Given the description of an element on the screen output the (x, y) to click on. 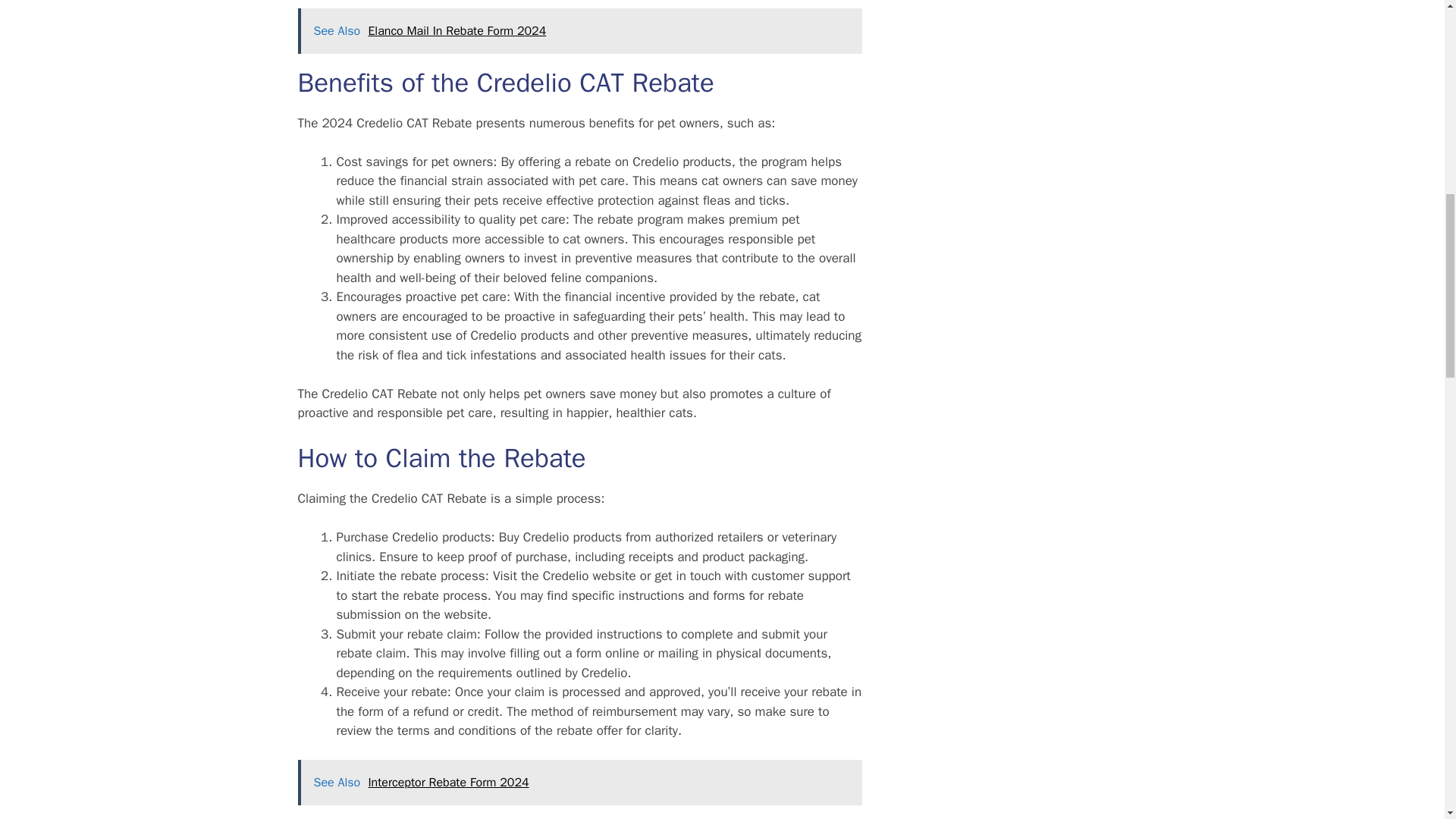
See Also  Interceptor Rebate Form 2024 (579, 782)
See Also  Elanco Mail In Rebate Form 2024 (579, 31)
